Given the description of an element on the screen output the (x, y) to click on. 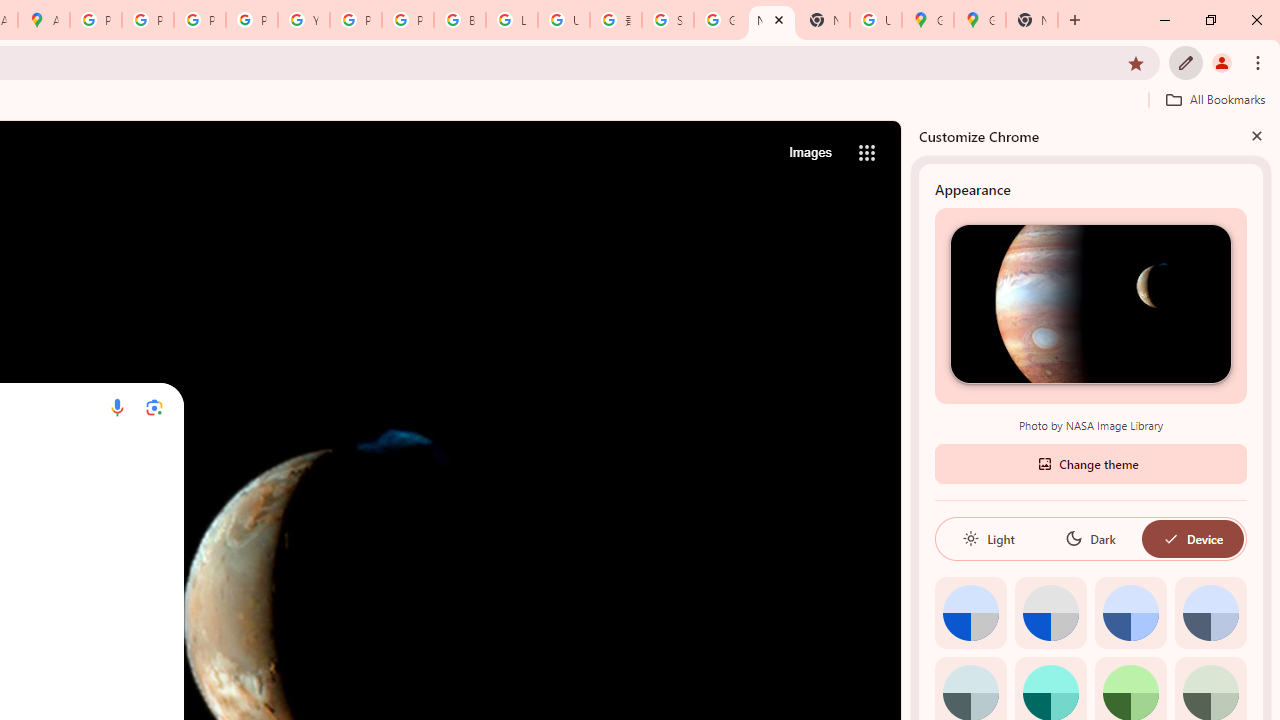
Customize Chrome (1185, 62)
Use Google Maps in Space - Google Maps Help (875, 20)
Search by image (153, 407)
Change theme (1090, 462)
Chrome Web Store (90, 504)
Blue (1130, 612)
Search for Images  (810, 152)
Default color (970, 612)
Search by voice (116, 407)
Browse Chrome as a guest - Computer - Google Chrome Help (459, 20)
New Tab (823, 20)
Google Maps (927, 20)
